Given the description of an element on the screen output the (x, y) to click on. 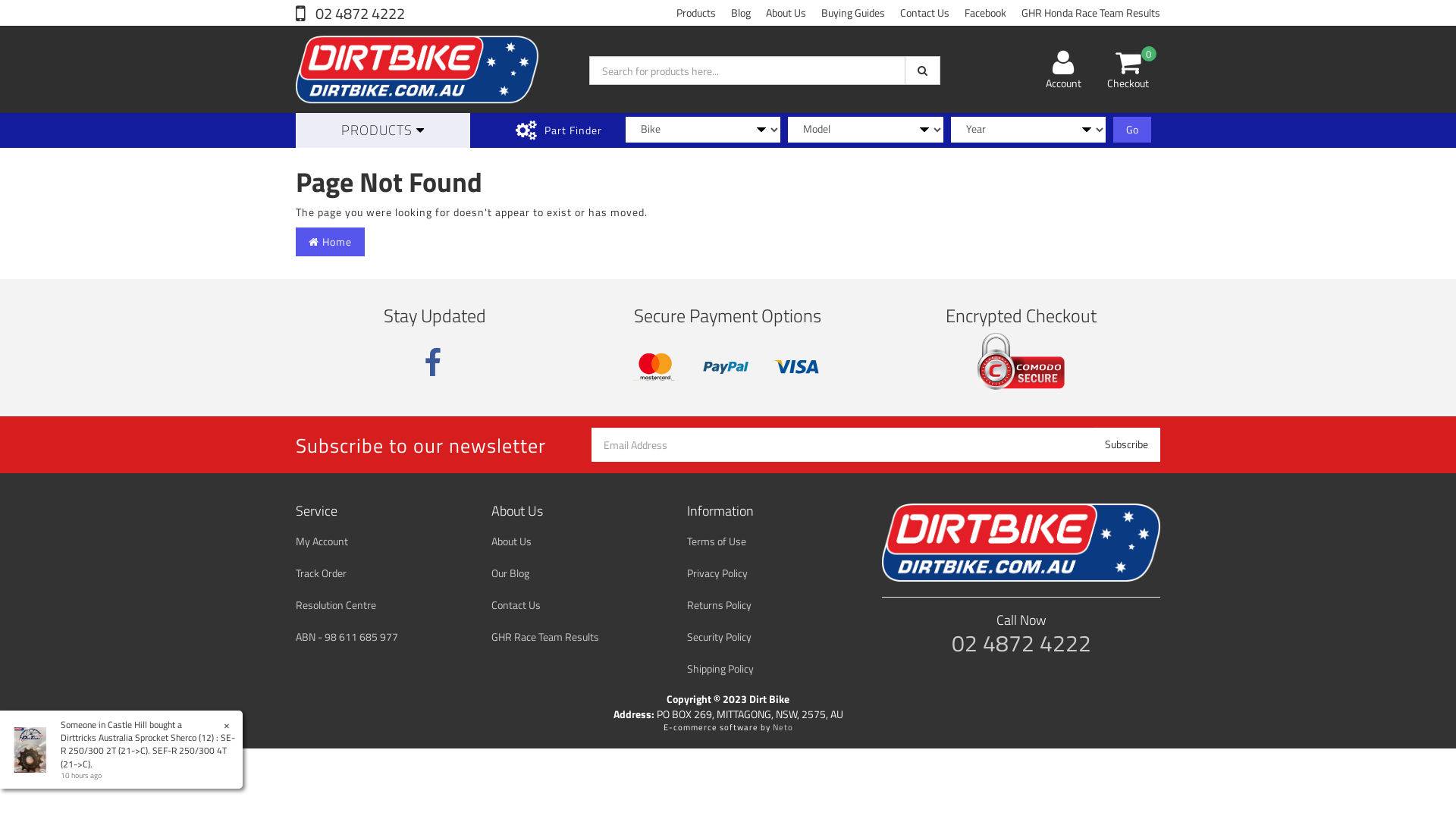
02 4872 4222 Element type: text (349, 13)
Our Blog Element type: text (575, 573)
Products Element type: text (695, 12)
ABN - 98 611 685 977 Element type: text (380, 636)
Privacy Policy Element type: text (771, 573)
GHR Race Team Results Element type: text (575, 636)
Buying Guides Element type: text (852, 12)
Account Element type: text (1063, 69)
Shipping Policy Element type: text (771, 668)
0
Checkout Element type: text (1127, 69)
GHR Honda Race Team Results Element type: text (1090, 12)
Security Policy Element type: text (771, 636)
Terms of Use Element type: text (771, 541)
PRODUCTS Element type: text (382, 129)
Contact Us Element type: text (924, 12)
02 4872 4222 Element type: text (1021, 642)
Blog Element type: text (740, 12)
Go Element type: text (1132, 129)
Returns Policy Element type: text (771, 604)
Search Element type: text (922, 70)
Home Element type: text (329, 241)
About Us Element type: text (575, 541)
Subscribe Element type: text (1126, 444)
Contact Us Element type: text (575, 604)
Track Order Element type: text (380, 573)
Neto Element type: text (781, 727)
Resolution Centre Element type: text (380, 604)
Facebook Element type: text (985, 12)
My Account Element type: text (380, 541)
About Us Element type: text (785, 12)
